Given the description of an element on the screen output the (x, y) to click on. 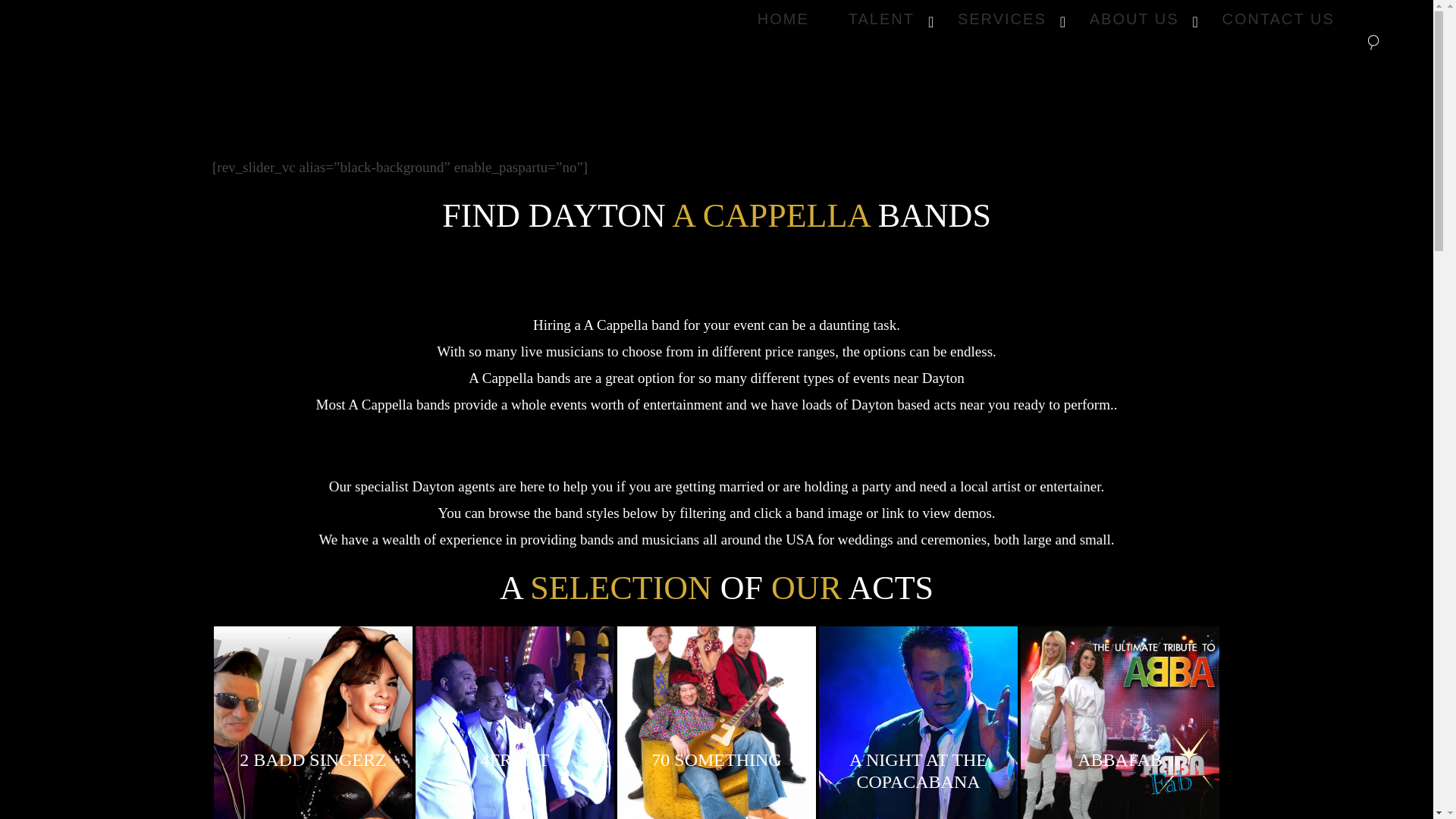
HOME (783, 18)
CONTACT US (1278, 18)
